Given the description of an element on the screen output the (x, y) to click on. 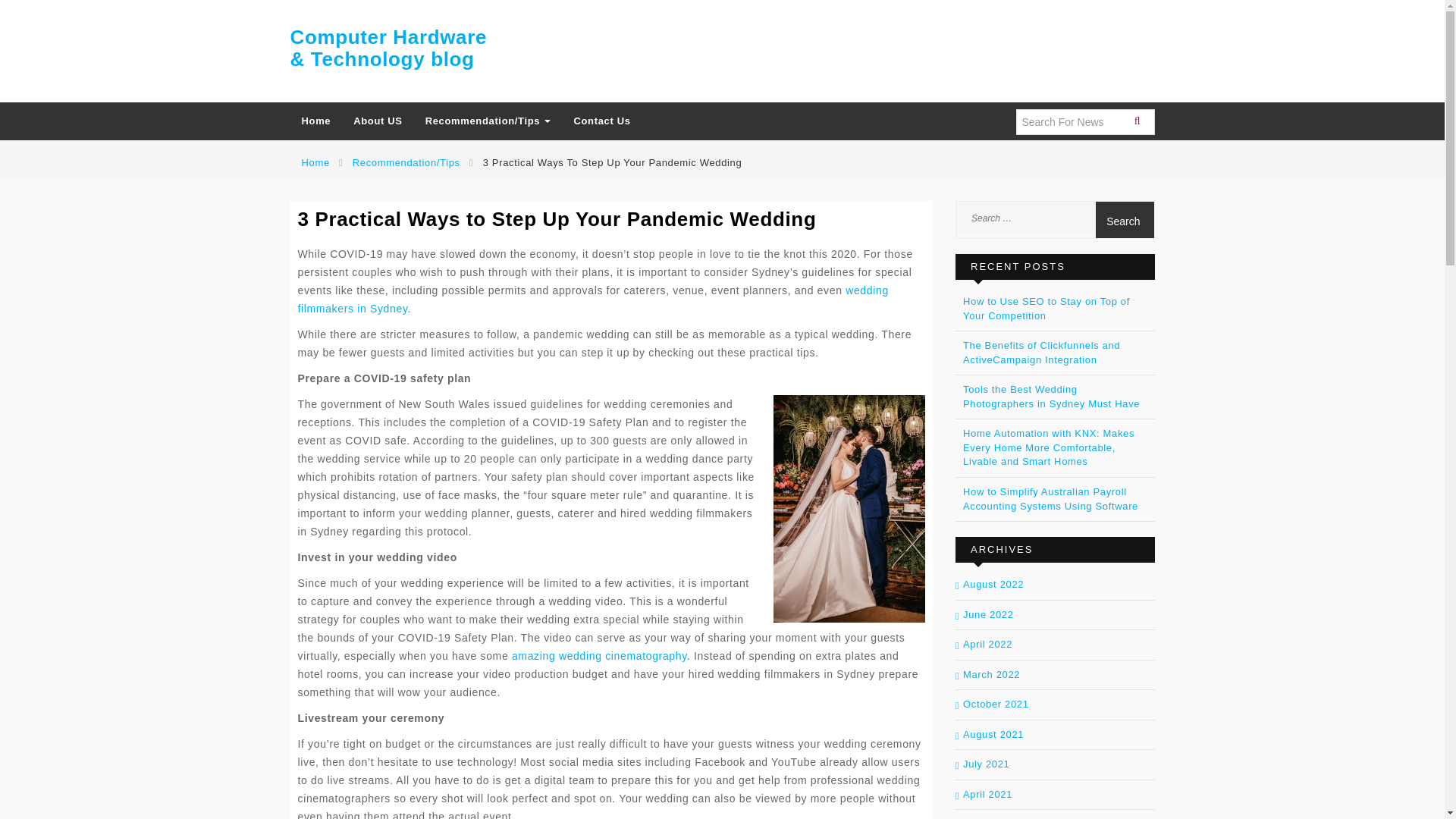
Contact Us (602, 121)
Home (315, 121)
Contact Us (602, 121)
June 2022 (987, 613)
About US (377, 121)
How to Use SEO to Stay on Top of Your Competition (1045, 308)
April 2022 (986, 644)
Tools the Best Wedding Photographers in Sydney Must Have (1051, 396)
March 2022 (991, 674)
Search (1124, 219)
Search (1124, 219)
July 2021 (986, 763)
Search (1124, 219)
